Given the description of an element on the screen output the (x, y) to click on. 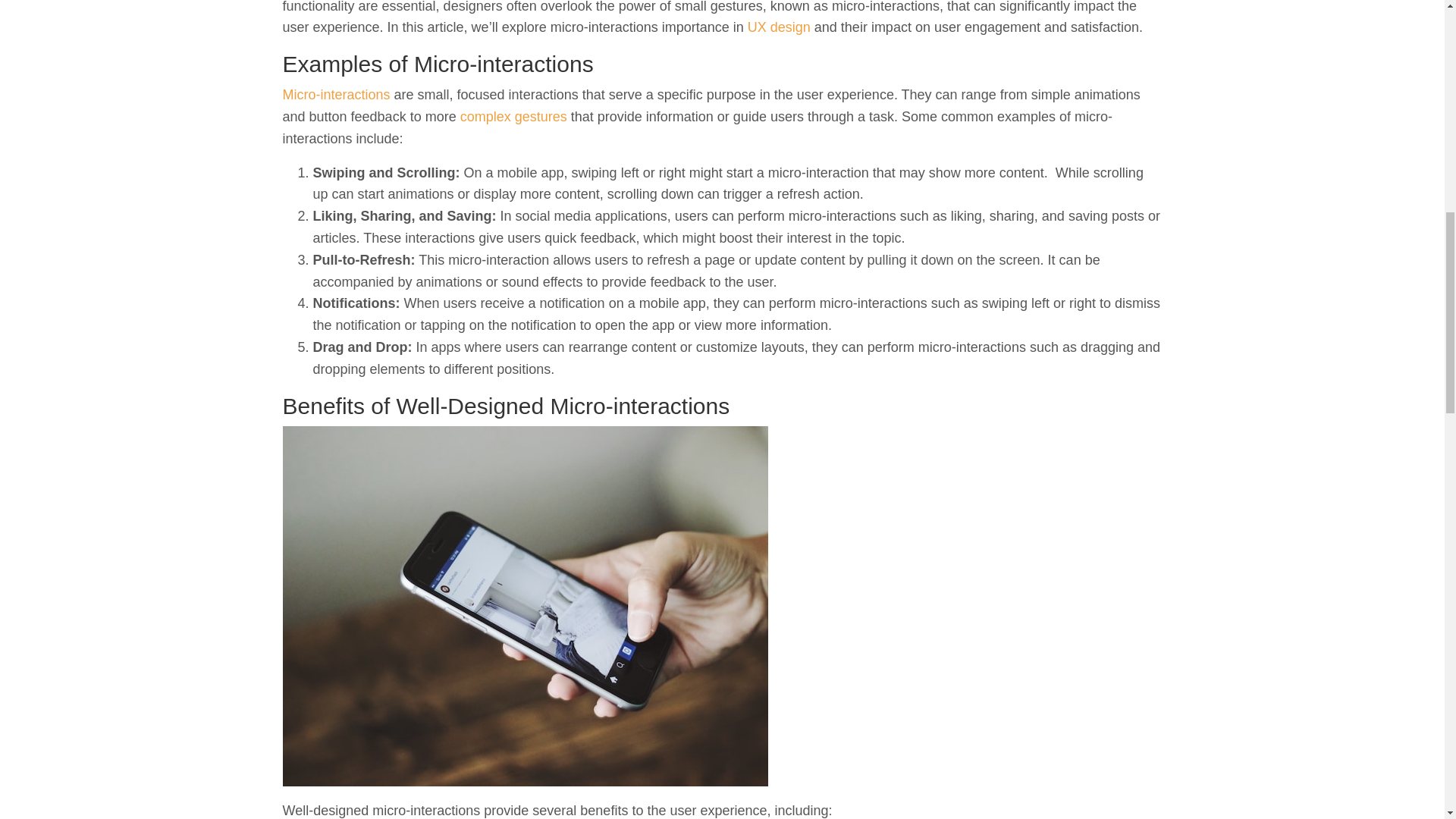
UX design (779, 27)
Micro-interactions (336, 94)
complex gestures (513, 116)
